Given the description of an element on the screen output the (x, y) to click on. 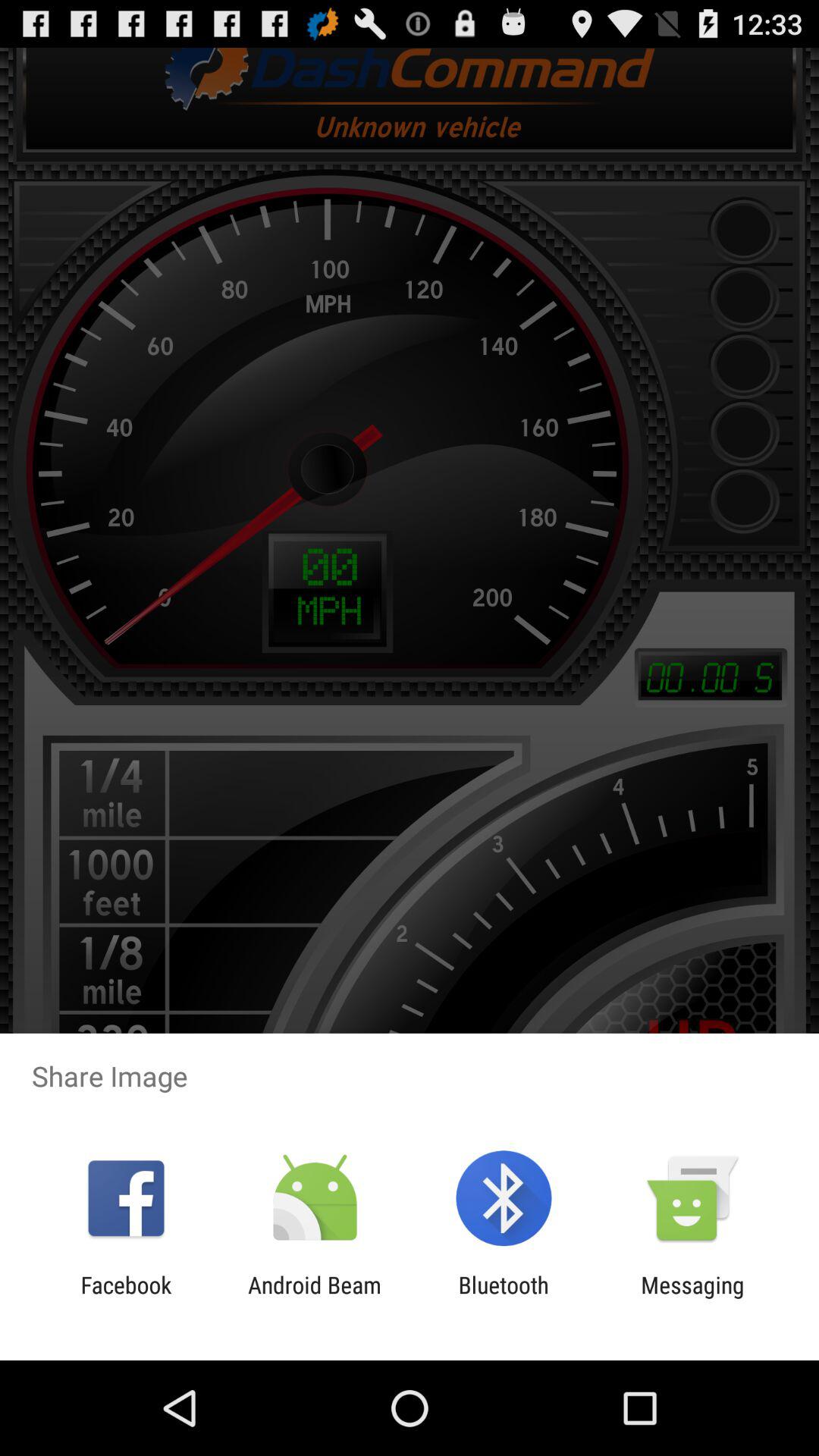
turn on the item next to the bluetooth icon (692, 1298)
